Given the description of an element on the screen output the (x, y) to click on. 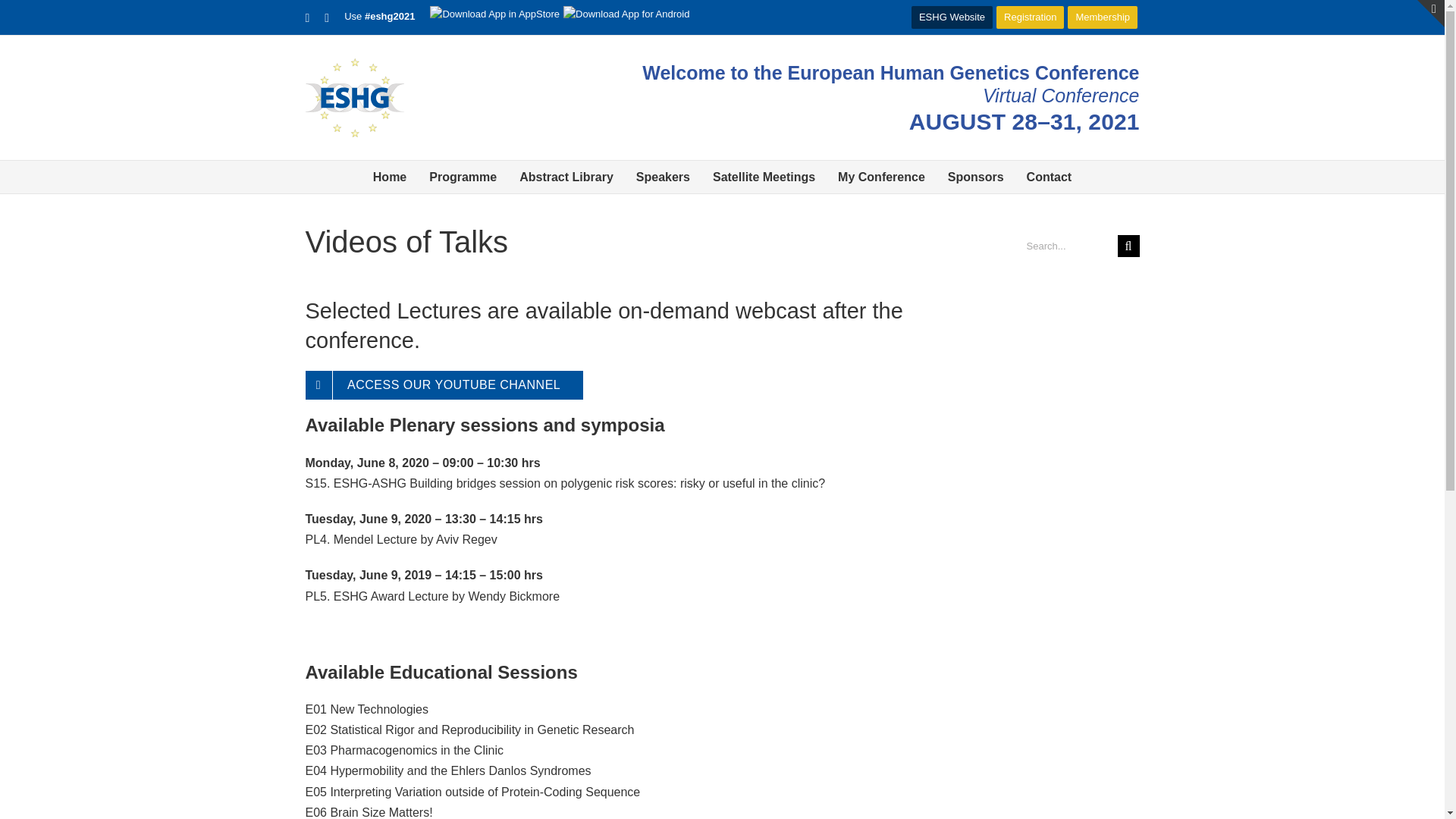
Home (389, 176)
Membership (1102, 16)
Registration (1029, 16)
ESHG Website (951, 16)
